Given the description of an element on the screen output the (x, y) to click on. 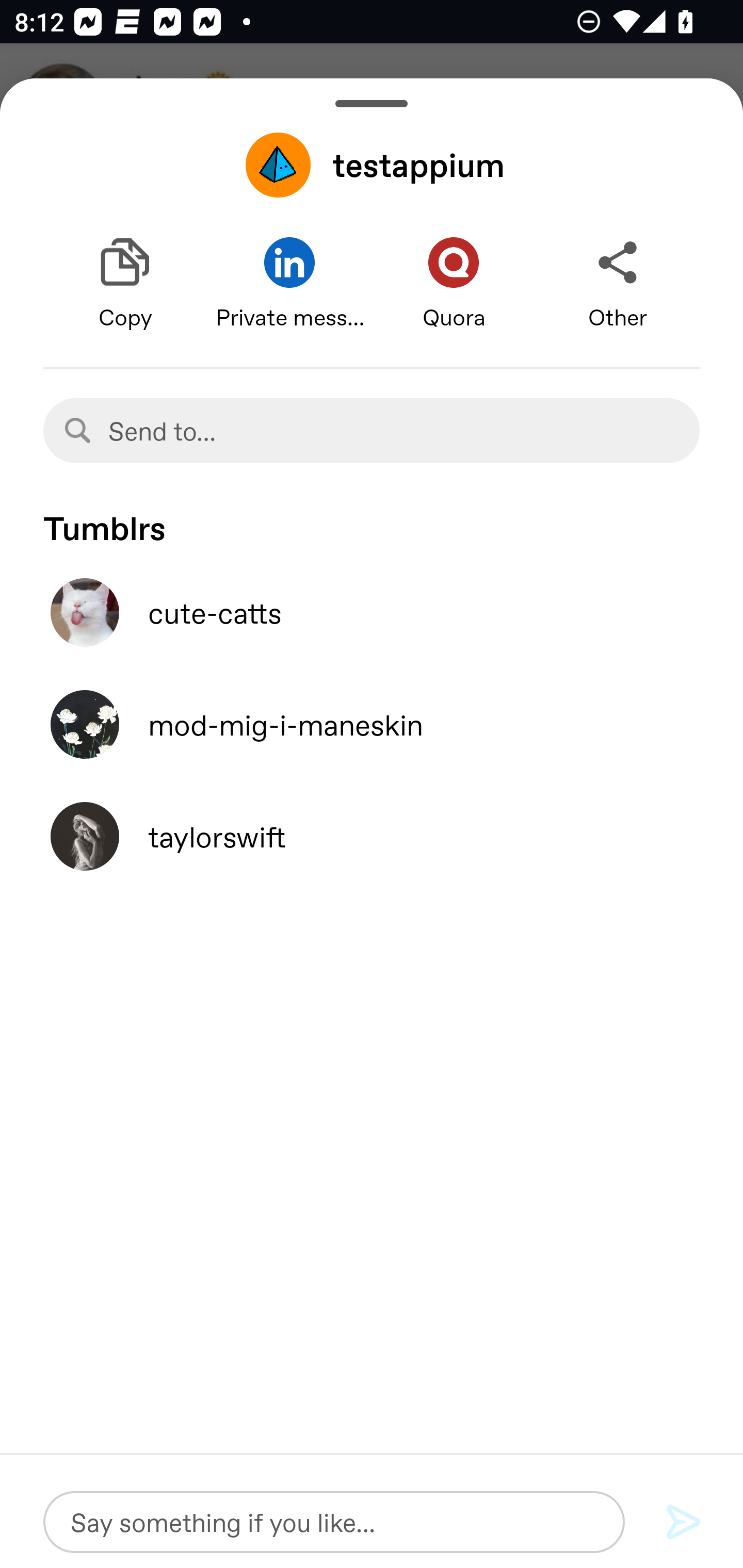
testappium (371, 164)
Copy (125, 284)
Private message (289, 284)
Quora (453, 284)
Other (617, 284)
Send to… (371, 430)
Tumblrs (371, 518)
cute-catts (371, 611)
mod-mig-i-maneskin (371, 723)
taylorswift (371, 836)
Send (683, 1522)
Say something if you like… (333, 1521)
